Given the description of an element on the screen output the (x, y) to click on. 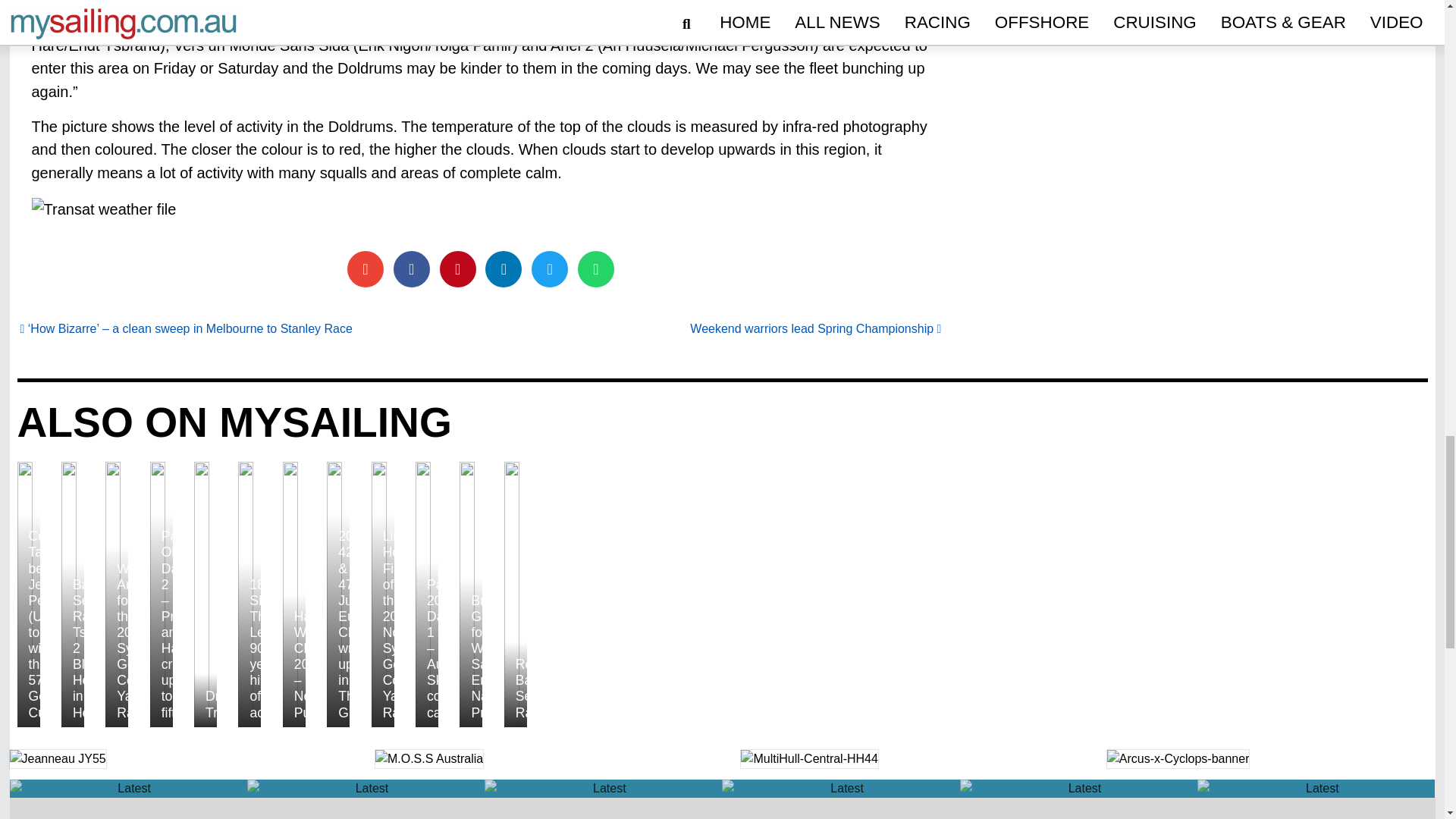
Weekend warriors lead Spring Championship  (815, 328)
Share by Email (365, 268)
